Given the description of an element on the screen output the (x, y) to click on. 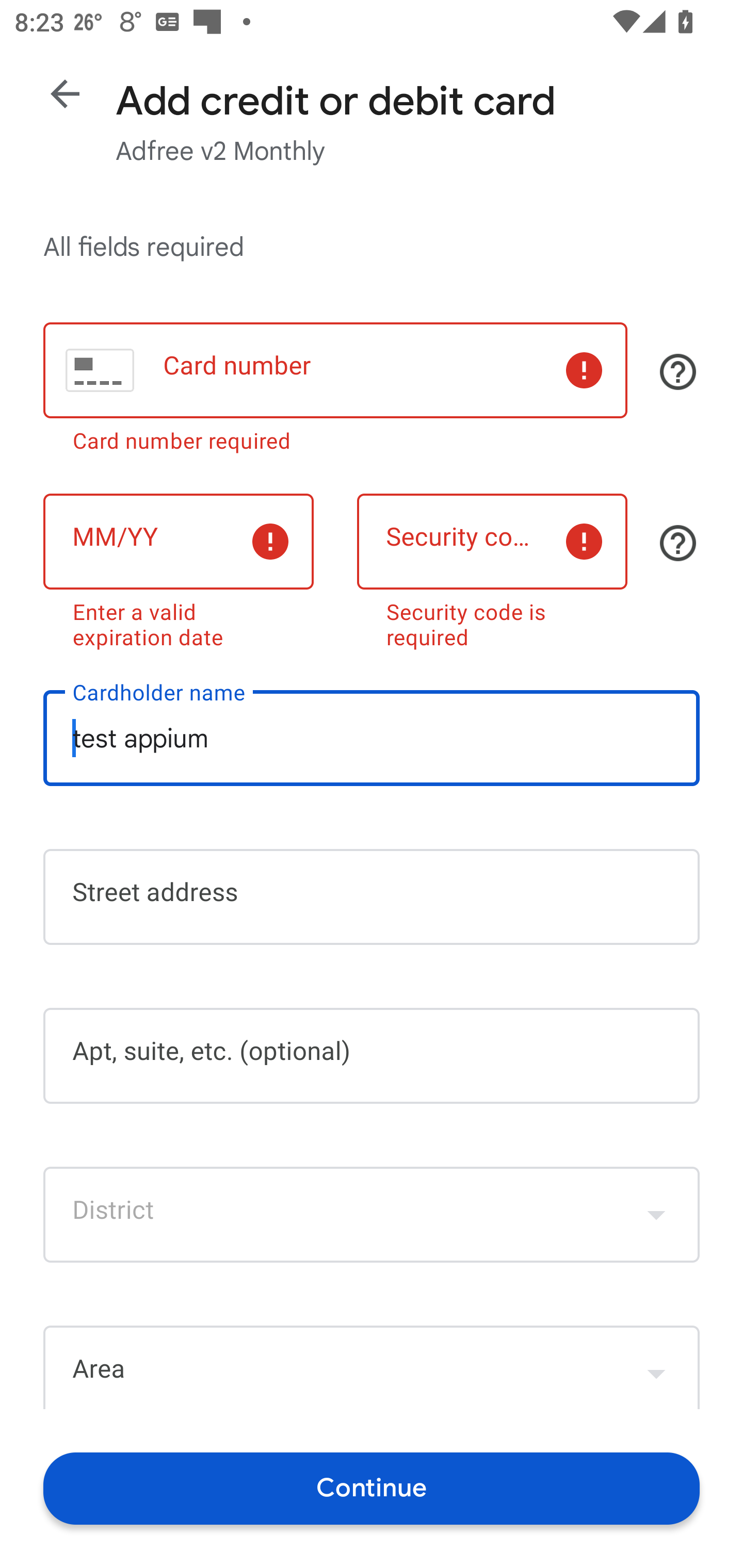
Back (64, 93)
Card number (335, 370)
Button, shows cards that are accepted for payment (677, 371)
Security code Error Security code is required (492, 567)
Expiration date, 2 digit month, 2 digit year (178, 541)
Security code (492, 541)
Security code help (677, 543)
test appium (371, 737)
Street address (371, 896)
Apt, suite, etc. (optional) (371, 1055)
District (371, 1214)
Show dropdown menu (655, 1214)
Area (371, 1366)
Show dropdown menu (655, 1369)
Continue (371, 1487)
